Given the description of an element on the screen output the (x, y) to click on. 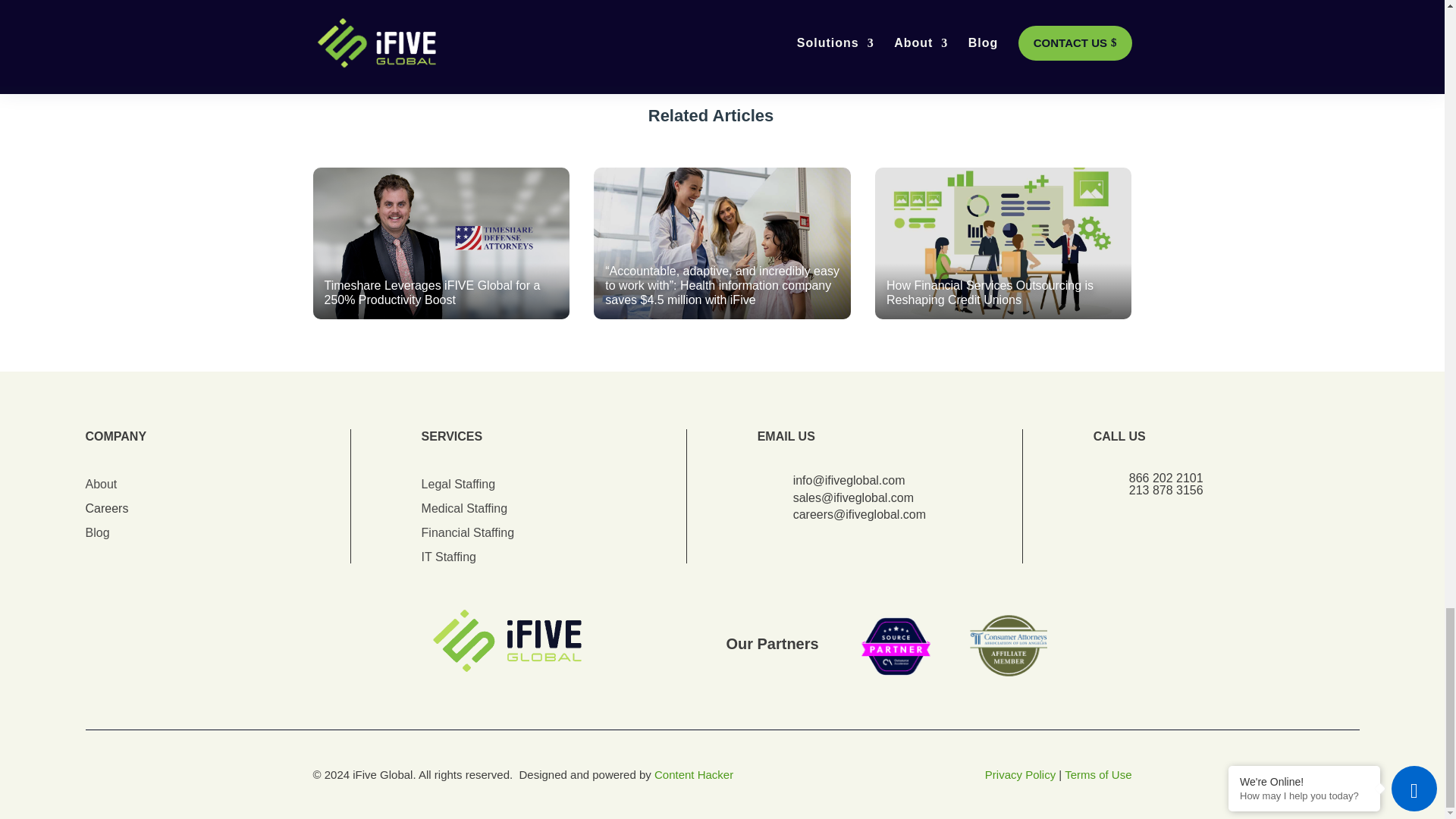
Group 7 (950, 646)
